Given the description of an element on the screen output the (x, y) to click on. 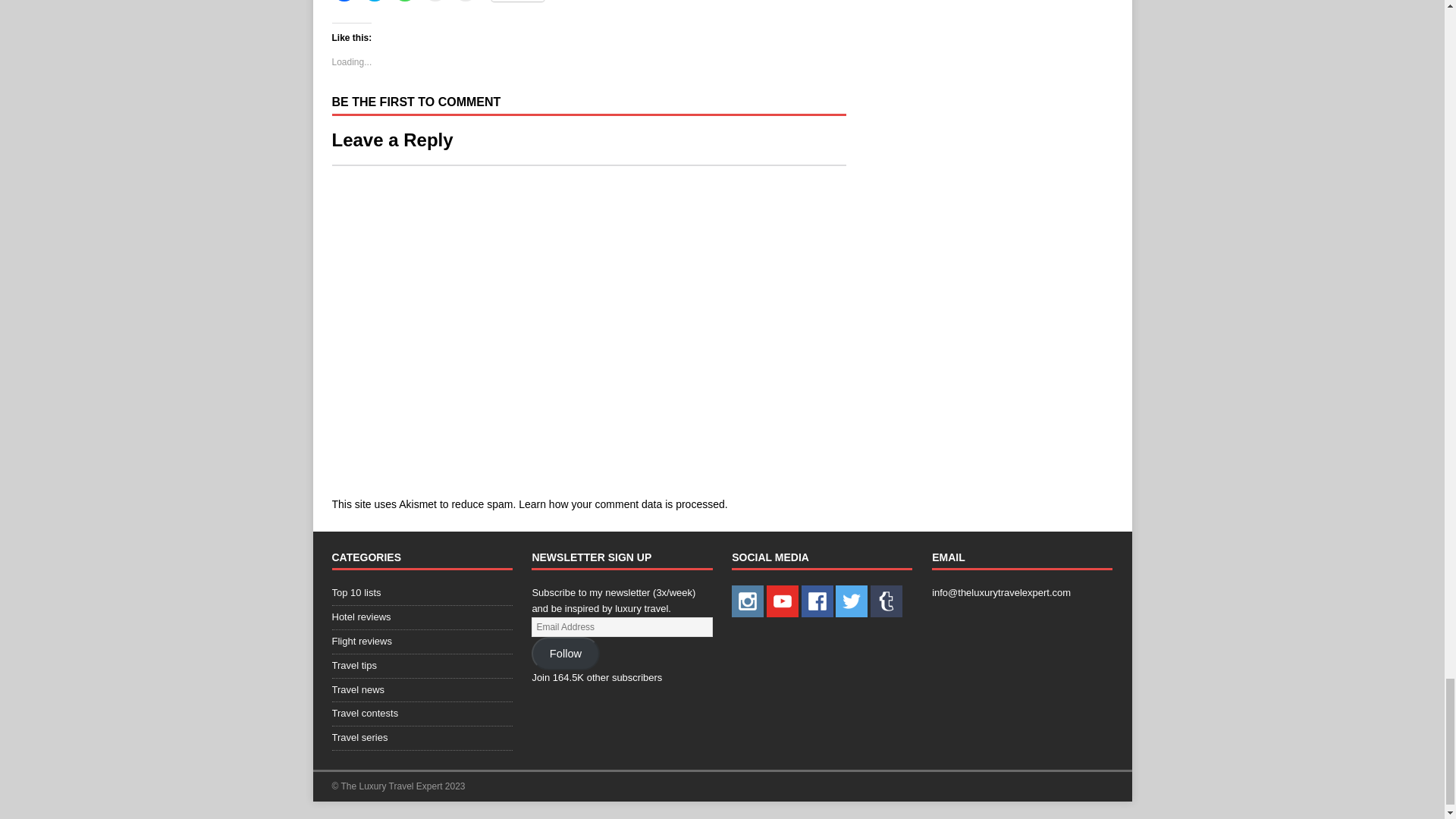
Click to share on Facebook (343, 0)
Click to print (464, 0)
Click to email a link to a friend (434, 0)
Click to share on WhatsApp (404, 0)
Click to share on Twitter (374, 0)
